Given the description of an element on the screen output the (x, y) to click on. 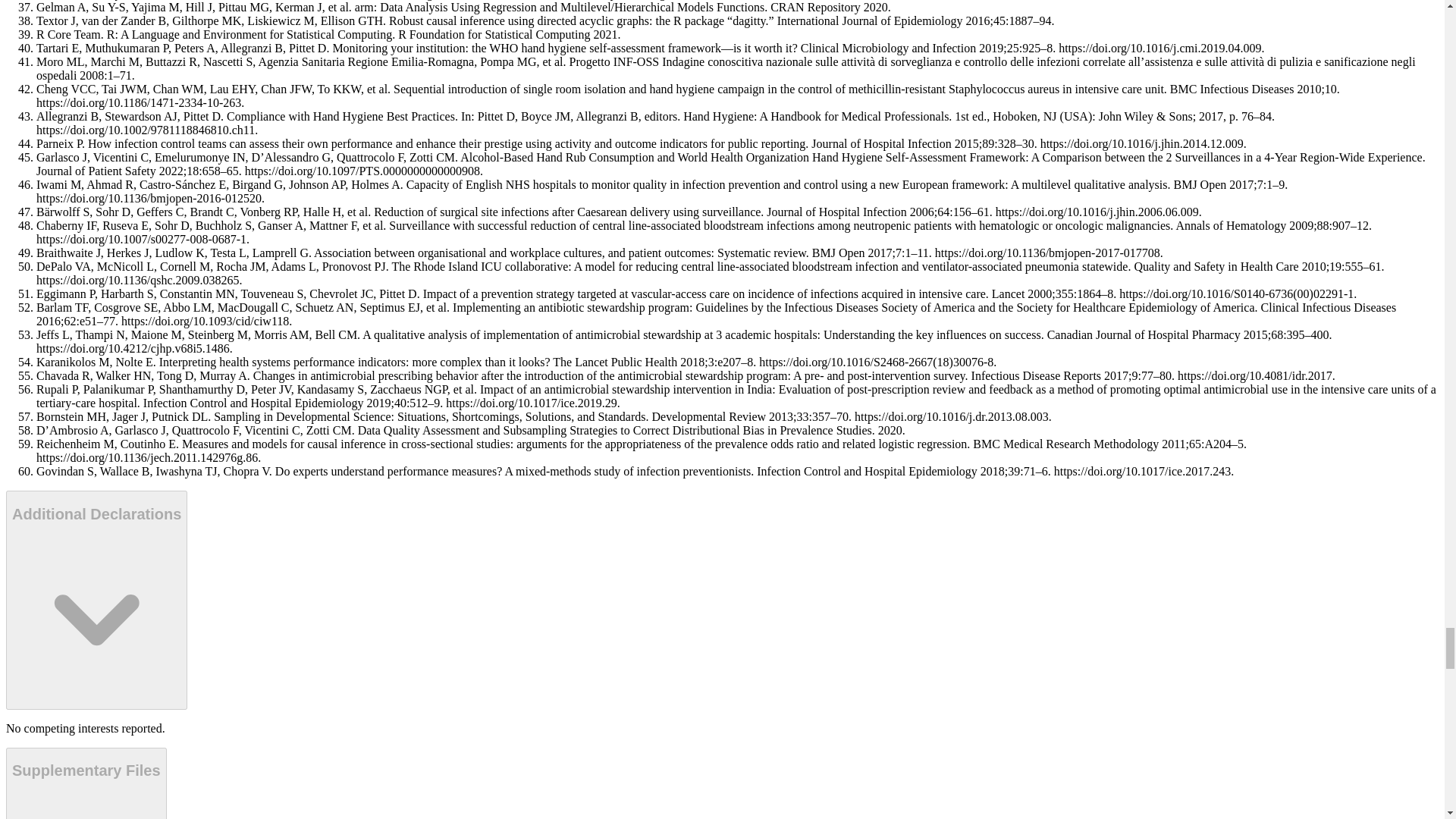
Additional Declarations (96, 600)
Supplementary Files (86, 783)
